Given the description of an element on the screen output the (x, y) to click on. 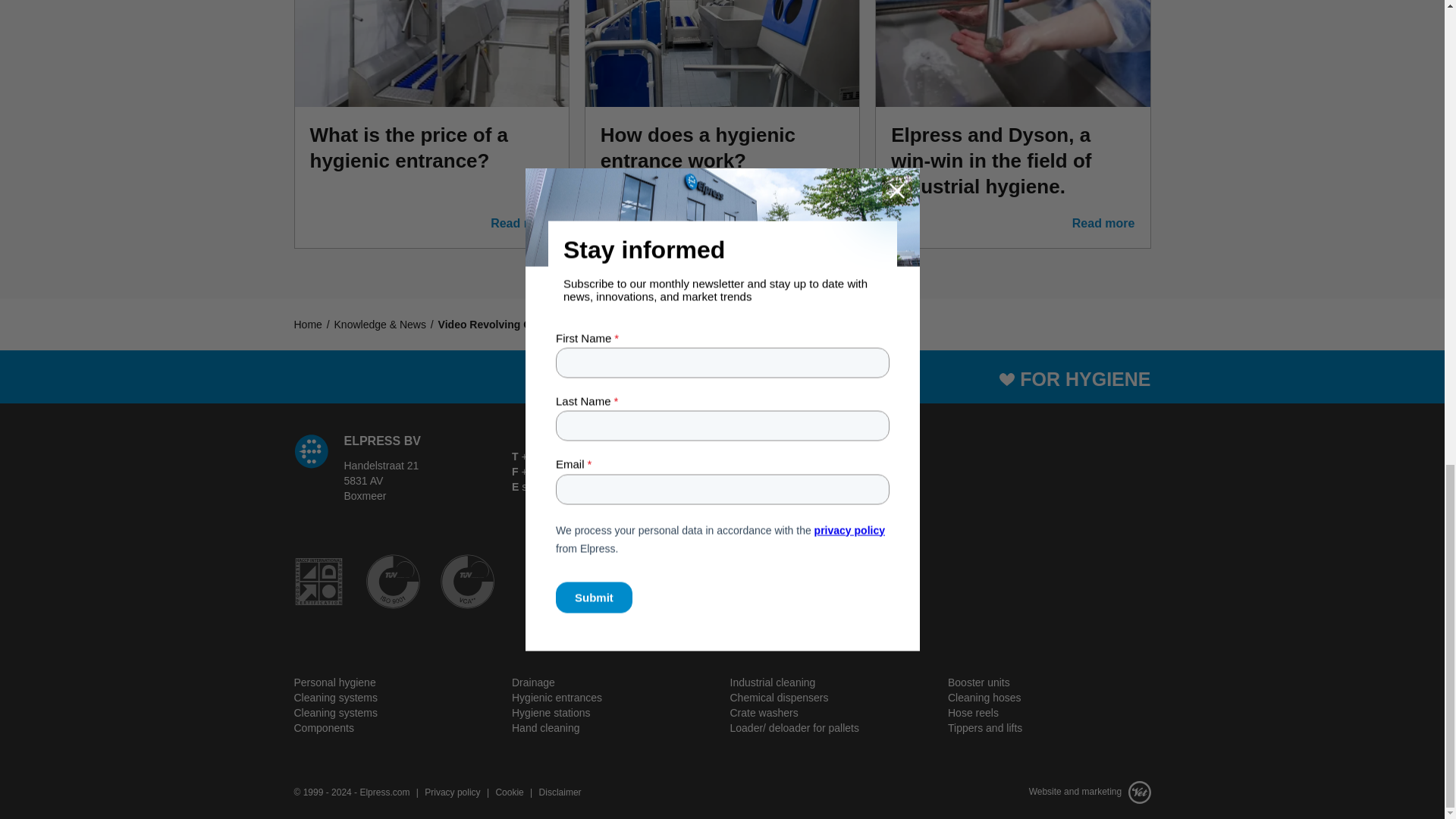
Have a website created by Bureau Vet (1045, 791)
Bureau Vet (1137, 791)
